Given the description of an element on the screen output the (x, y) to click on. 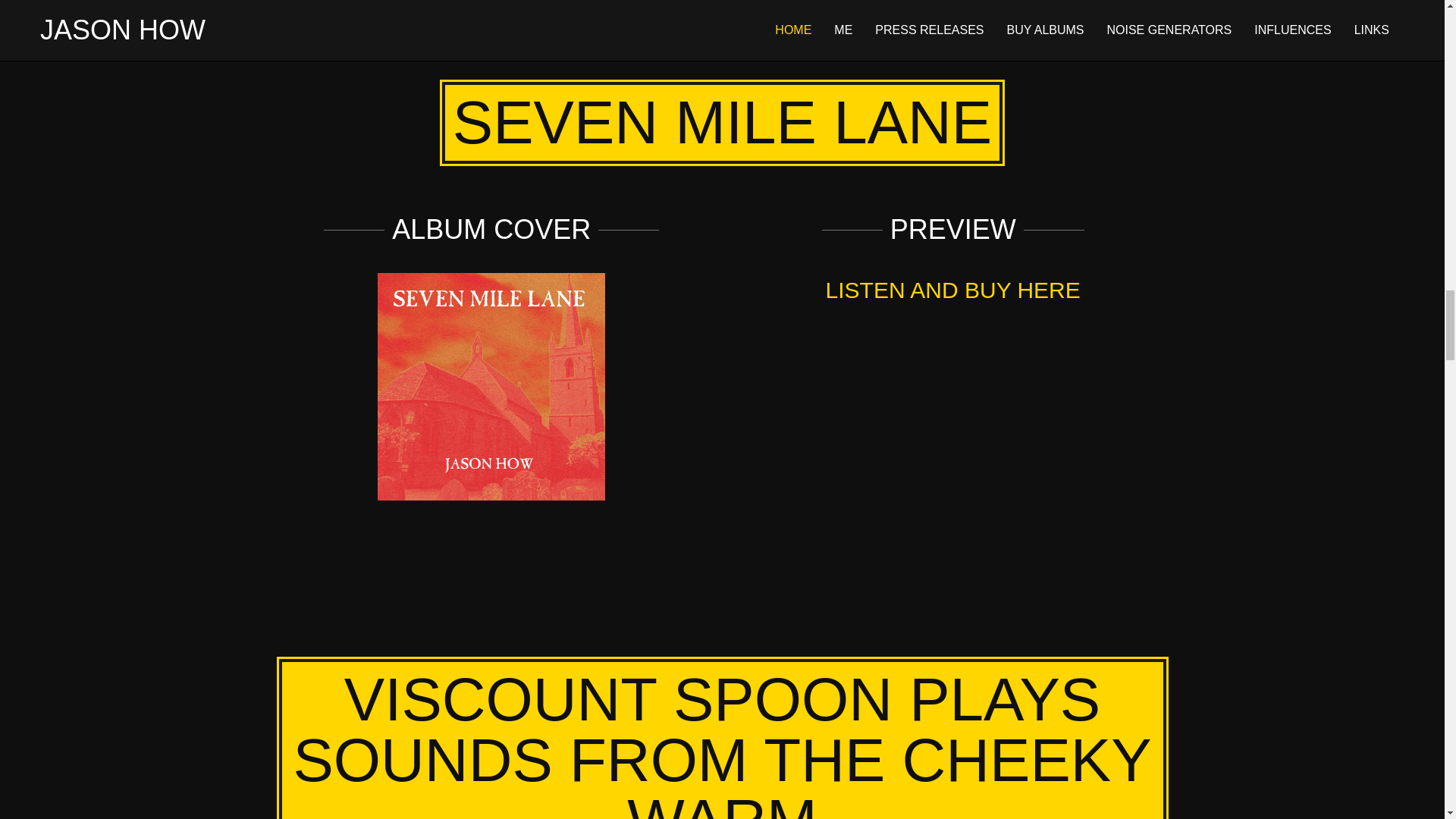
LISTEN AND BUY HERE (952, 289)
